Given the description of an element on the screen output the (x, y) to click on. 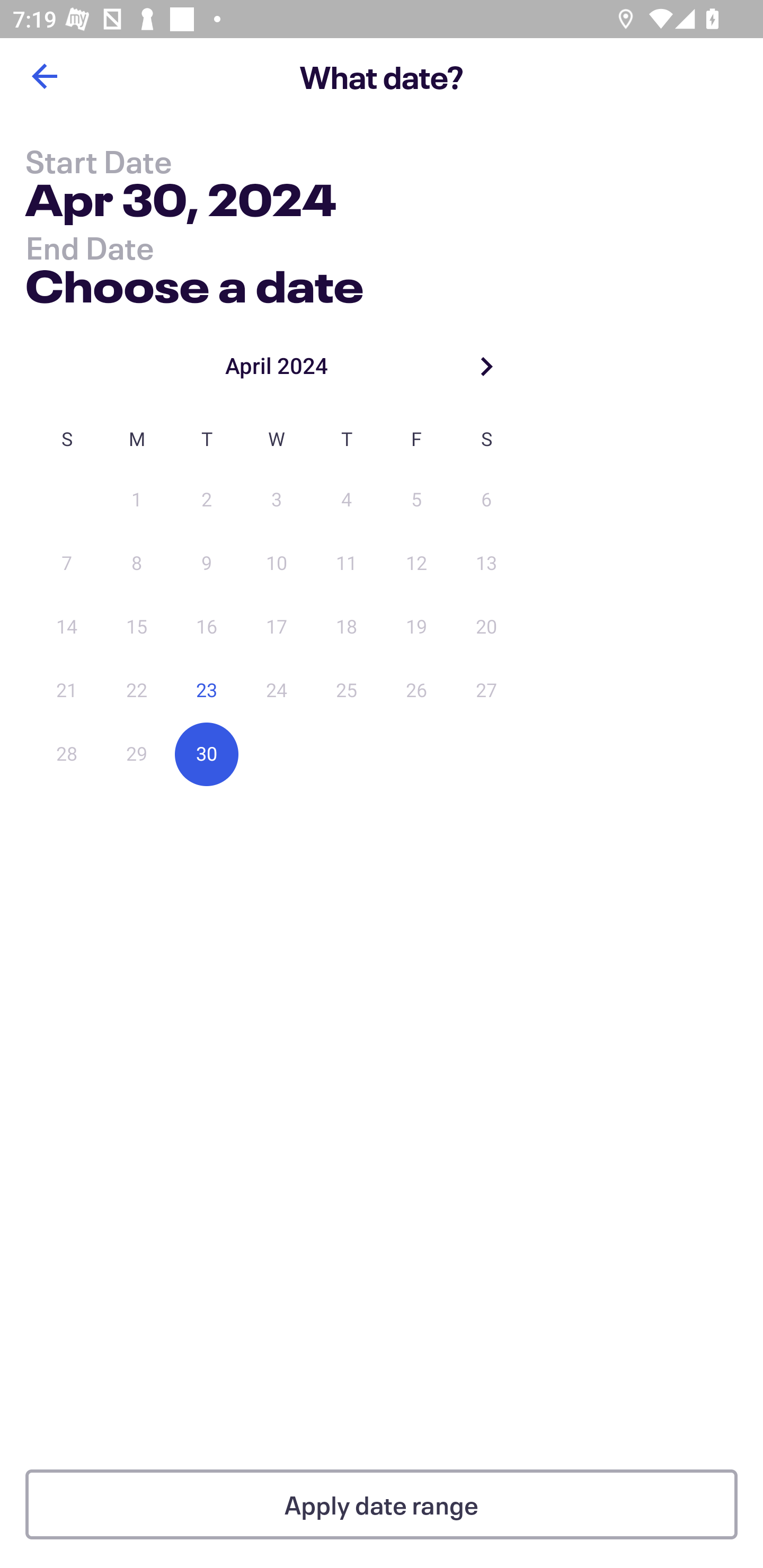
Back button (44, 75)
Apr 30, 2024 (180, 203)
Choose a date (194, 282)
Next month (486, 365)
1 01 April 2024 (136, 499)
2 02 April 2024 (206, 499)
3 03 April 2024 (276, 499)
4 04 April 2024 (346, 499)
5 05 April 2024 (416, 499)
6 06 April 2024 (486, 499)
7 07 April 2024 (66, 563)
8 08 April 2024 (136, 563)
9 09 April 2024 (206, 563)
10 10 April 2024 (276, 563)
11 11 April 2024 (346, 563)
12 12 April 2024 (416, 563)
13 13 April 2024 (486, 563)
14 14 April 2024 (66, 626)
15 15 April 2024 (136, 626)
16 16 April 2024 (206, 626)
17 17 April 2024 (276, 626)
18 18 April 2024 (346, 626)
19 19 April 2024 (416, 626)
20 20 April 2024 (486, 626)
21 21 April 2024 (66, 690)
22 22 April 2024 (136, 690)
23 23 April 2024 (206, 690)
24 24 April 2024 (276, 690)
25 25 April 2024 (346, 690)
26 26 April 2024 (416, 690)
27 27 April 2024 (486, 690)
28 28 April 2024 (66, 753)
29 29 April 2024 (136, 753)
30 30 April 2024 (206, 753)
Apply date range (381, 1504)
